Given the description of an element on the screen output the (x, y) to click on. 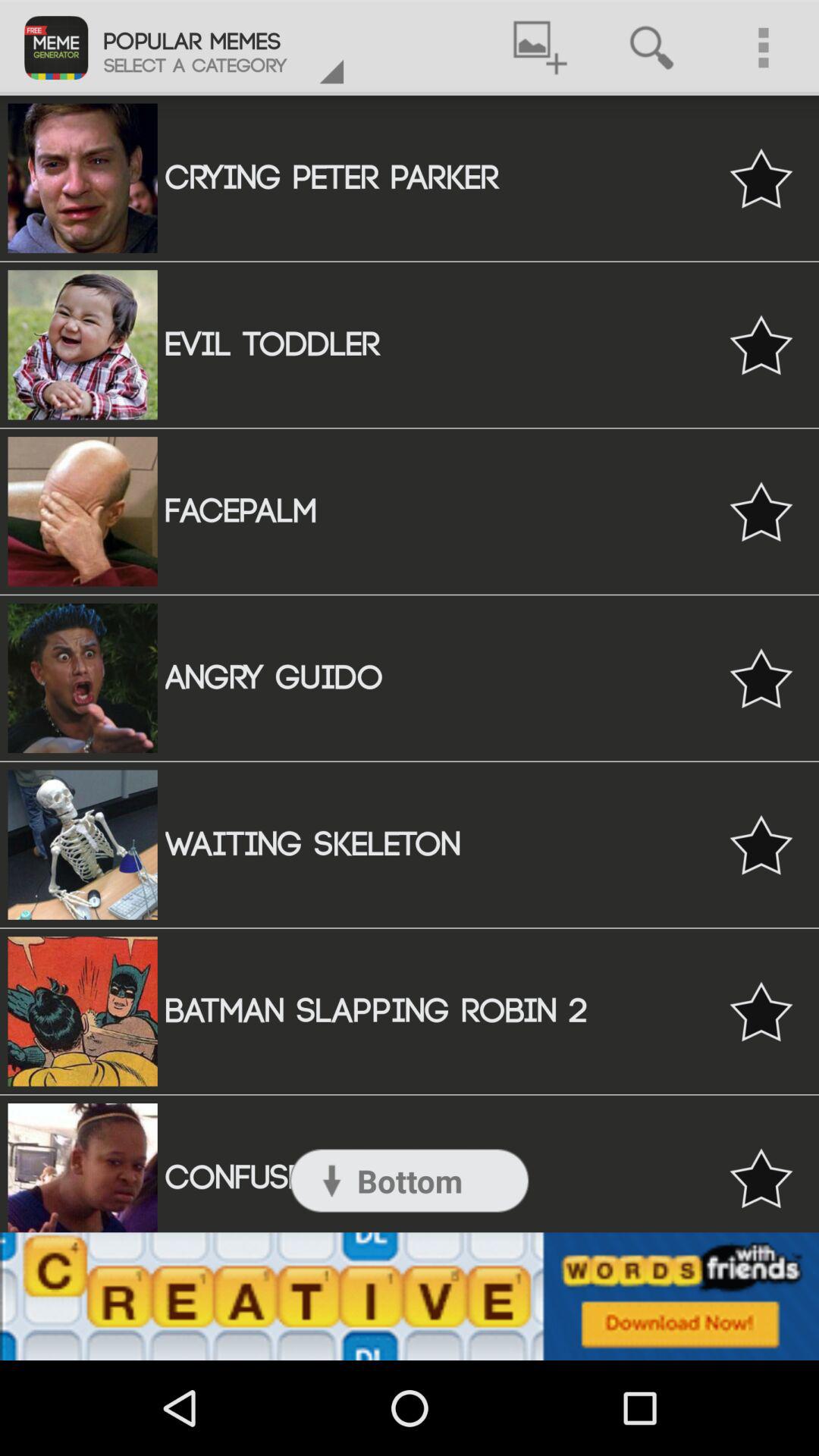
add image to favorites (761, 678)
